Given the description of an element on the screen output the (x, y) to click on. 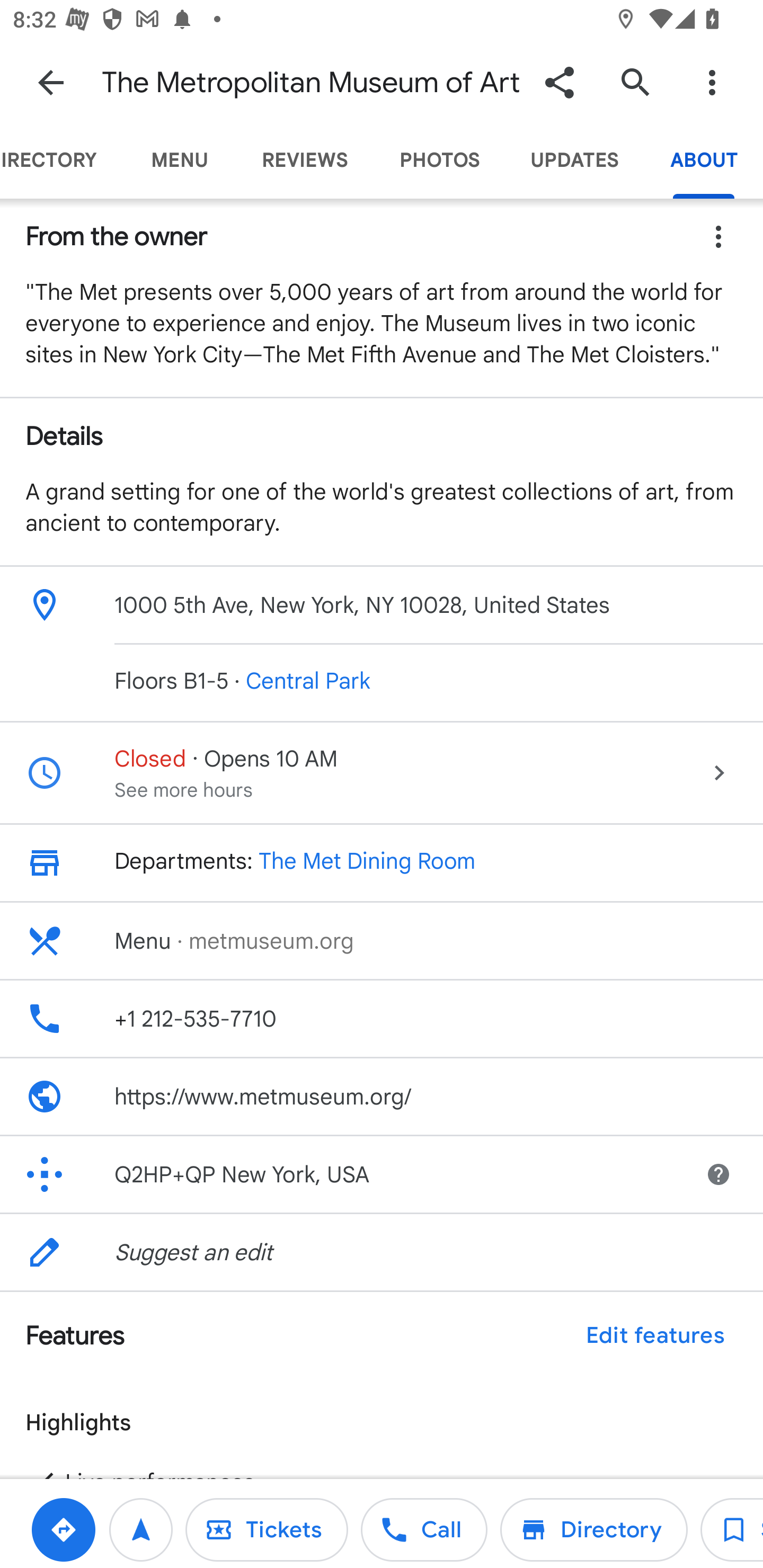
Back to Search (50, 81)
Share (559, 81)
Search (635, 81)
More options for The Metropolitan Museum of Art (711, 81)
DIRECTORY Directory (61, 160)
MENU Menu (179, 160)
REVIEWS Reviews (304, 160)
PHOTOS Photos (439, 160)
UPDATES Updates (574, 160)
See more deparments (57, 862)
Menu Menu · metmuseum.org (381, 940)
Phone Number: +1 212-535-7710 +1 212-535-7710 (381, 1018)
Q2HP+QP New York, USA (340, 1174)
Suggest an edit (381, 1251)
Edit features (654, 1335)
Start (141, 1529)
Tickets (266, 1529)
Directory Directory Directory (593, 1529)
